Given the description of an element on the screen output the (x, y) to click on. 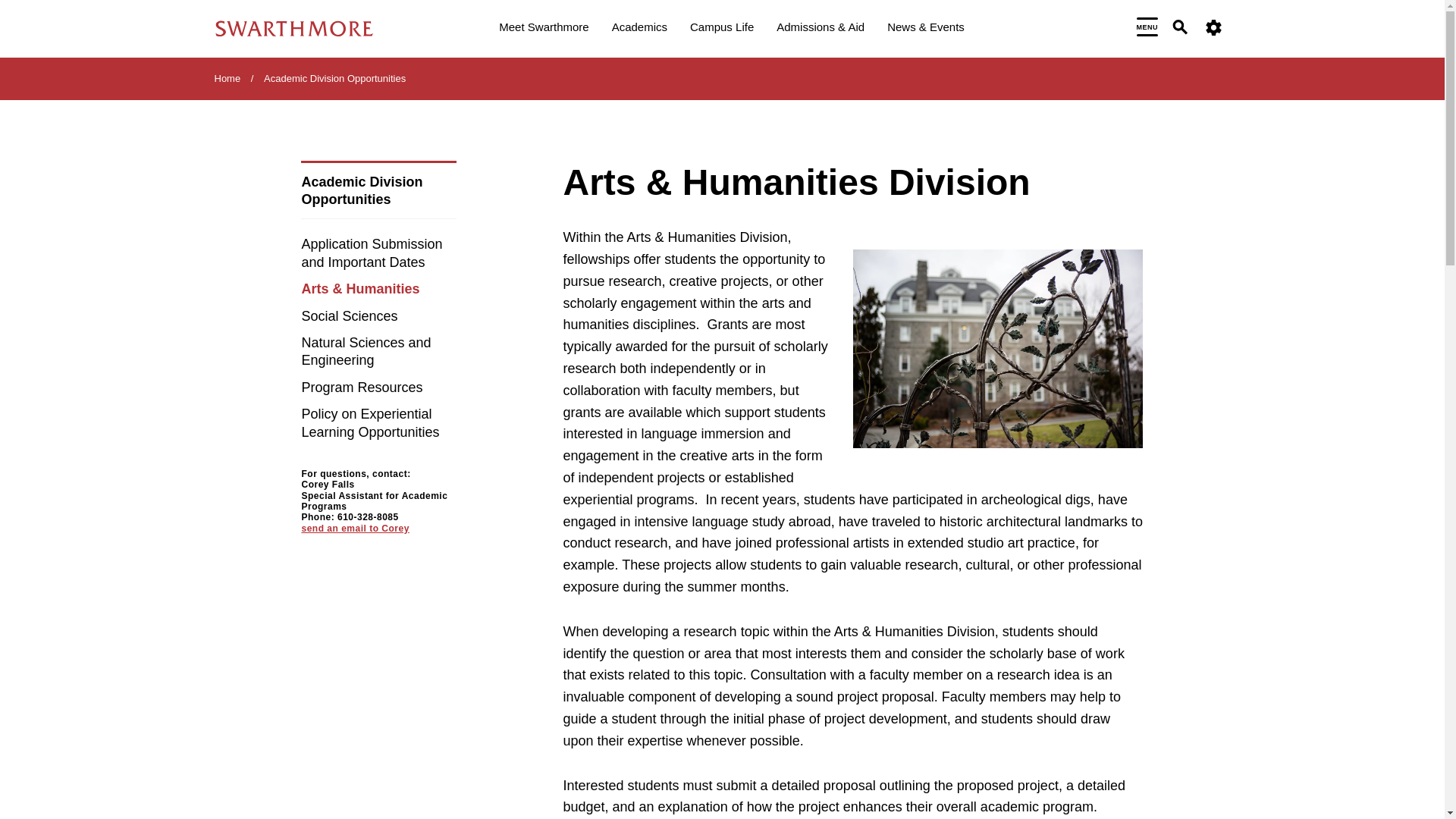
Campus Life (722, 28)
Meet Swarthmore (543, 28)
Academics (638, 28)
